Given the description of an element on the screen output the (x, y) to click on. 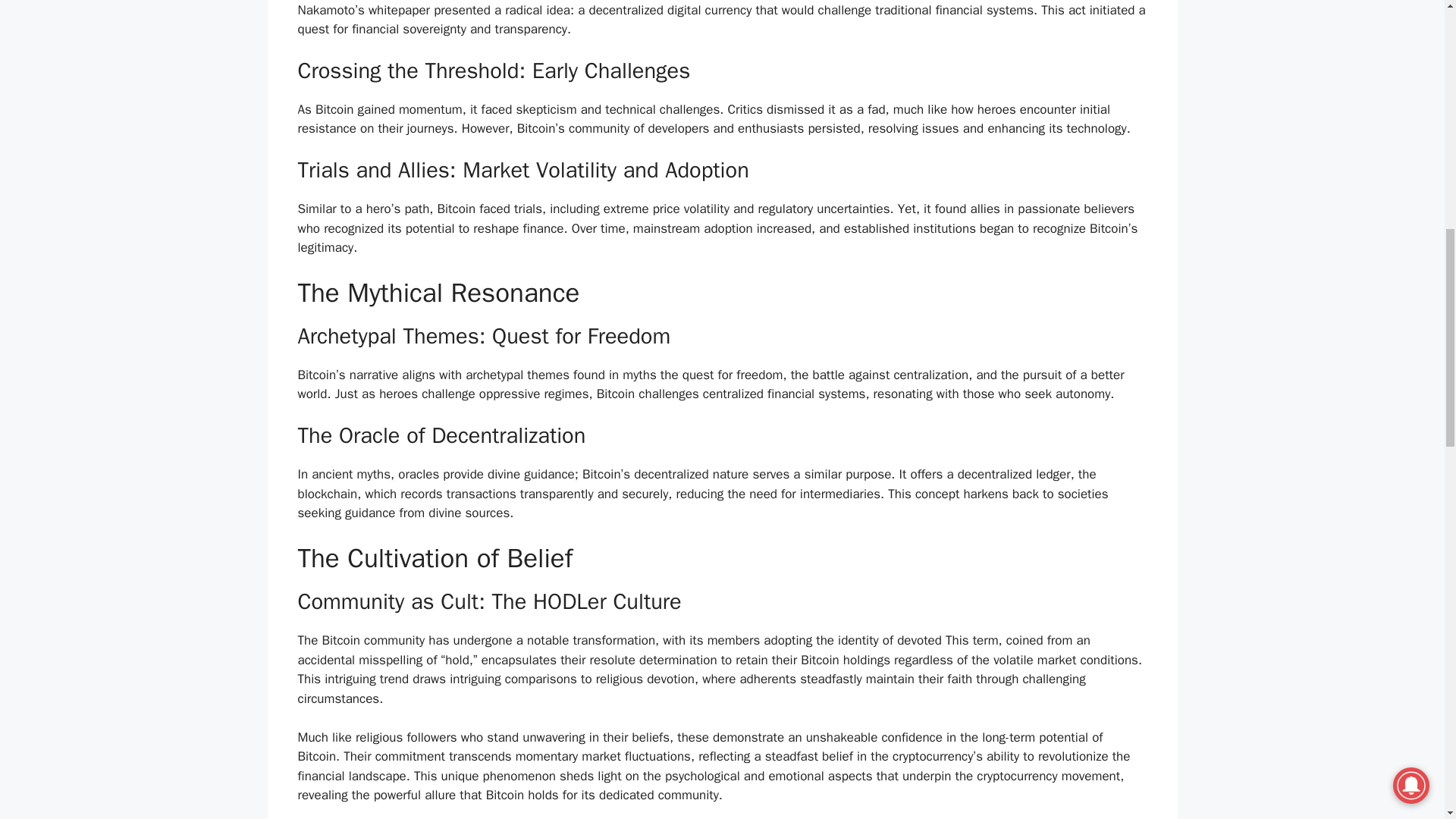
Scroll back to top (1406, 720)
